Given the description of an element on the screen output the (x, y) to click on. 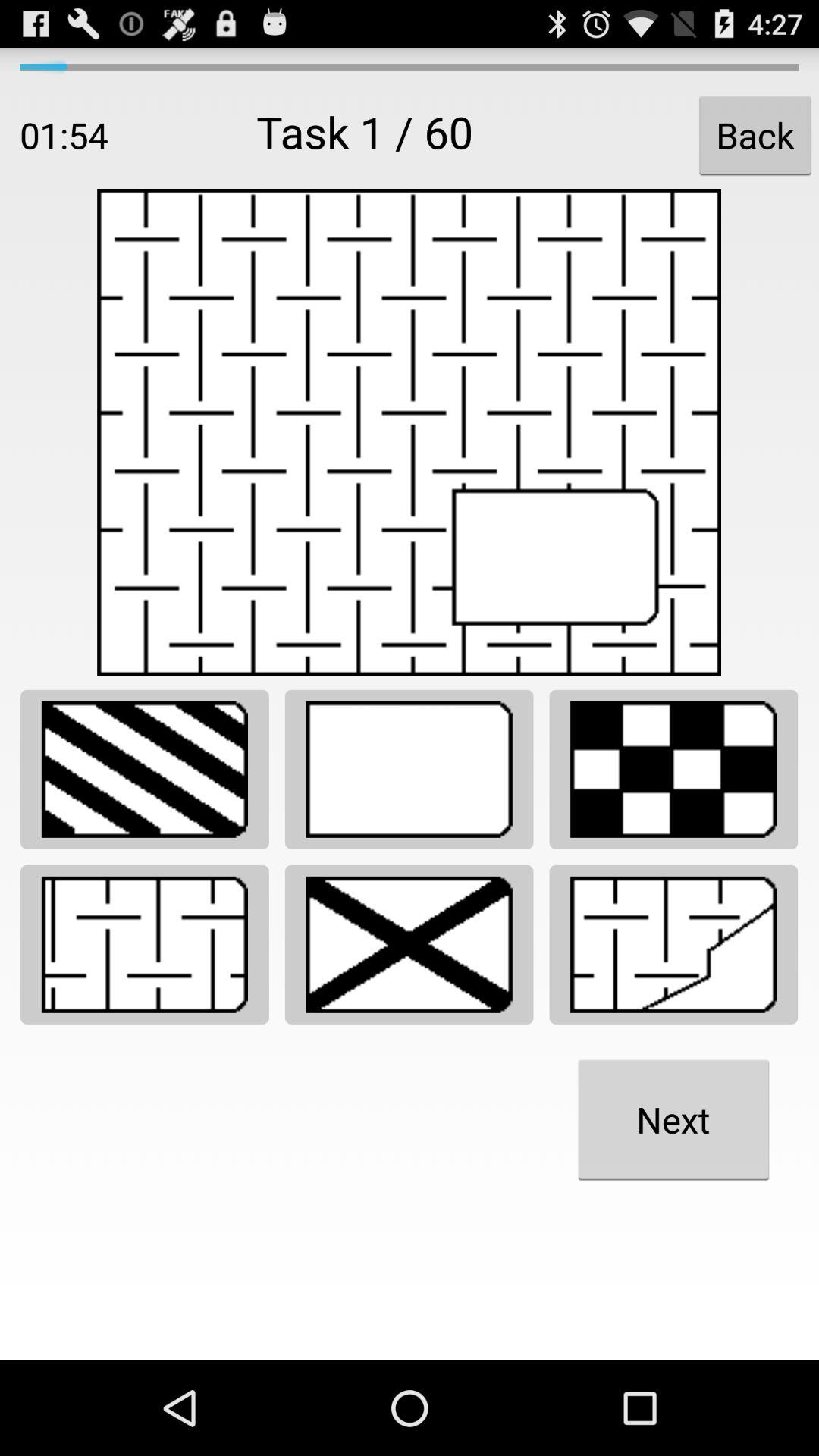
choose a pattern (408, 944)
